Given the description of an element on the screen output the (x, y) to click on. 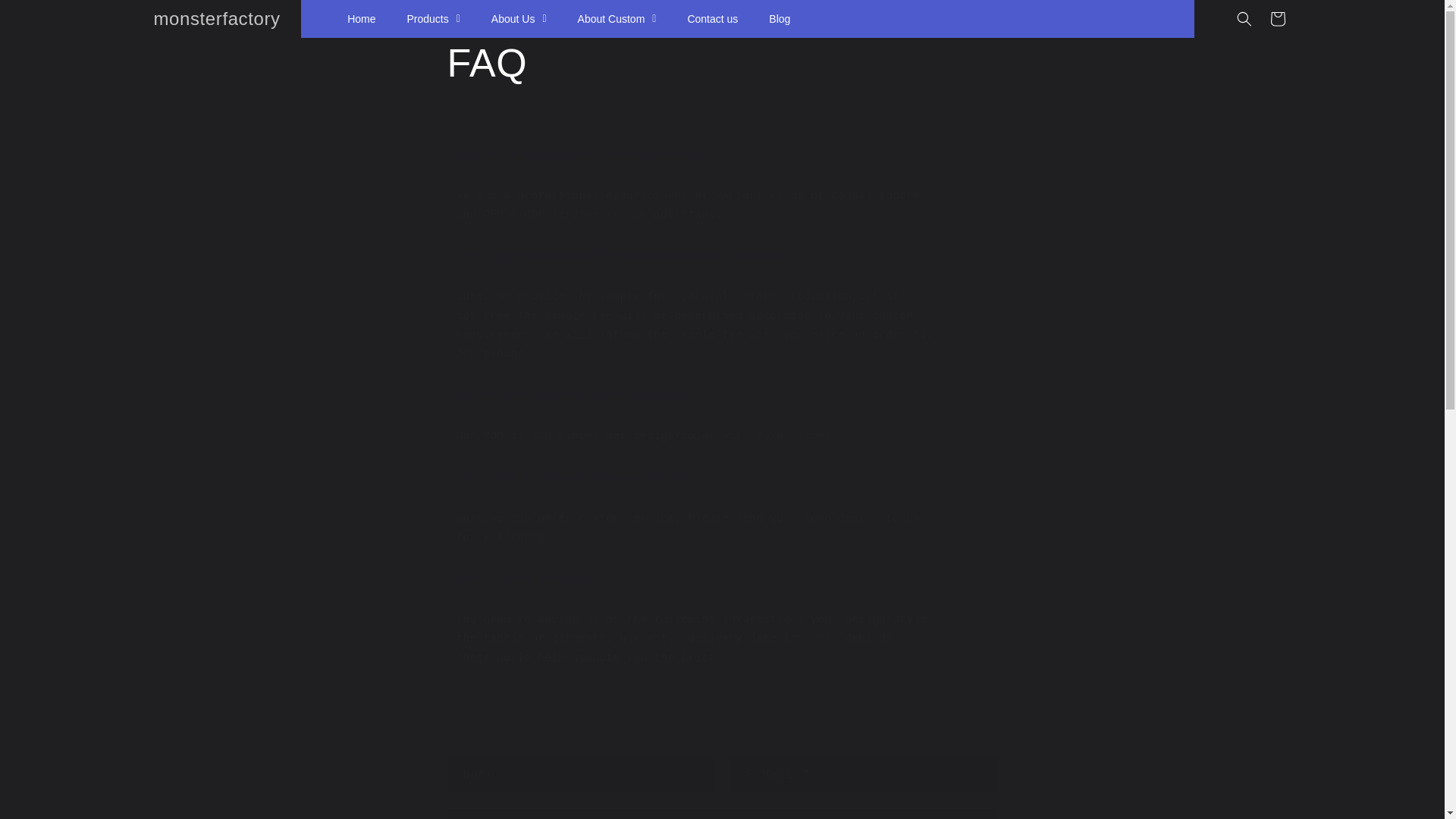
Products (432, 18)
Home (360, 18)
monsterfactory (216, 19)
Direkt zum Inhalt (45, 17)
About Custom (616, 18)
About Us (519, 18)
FAQ (721, 63)
